Given the description of an element on the screen output the (x, y) to click on. 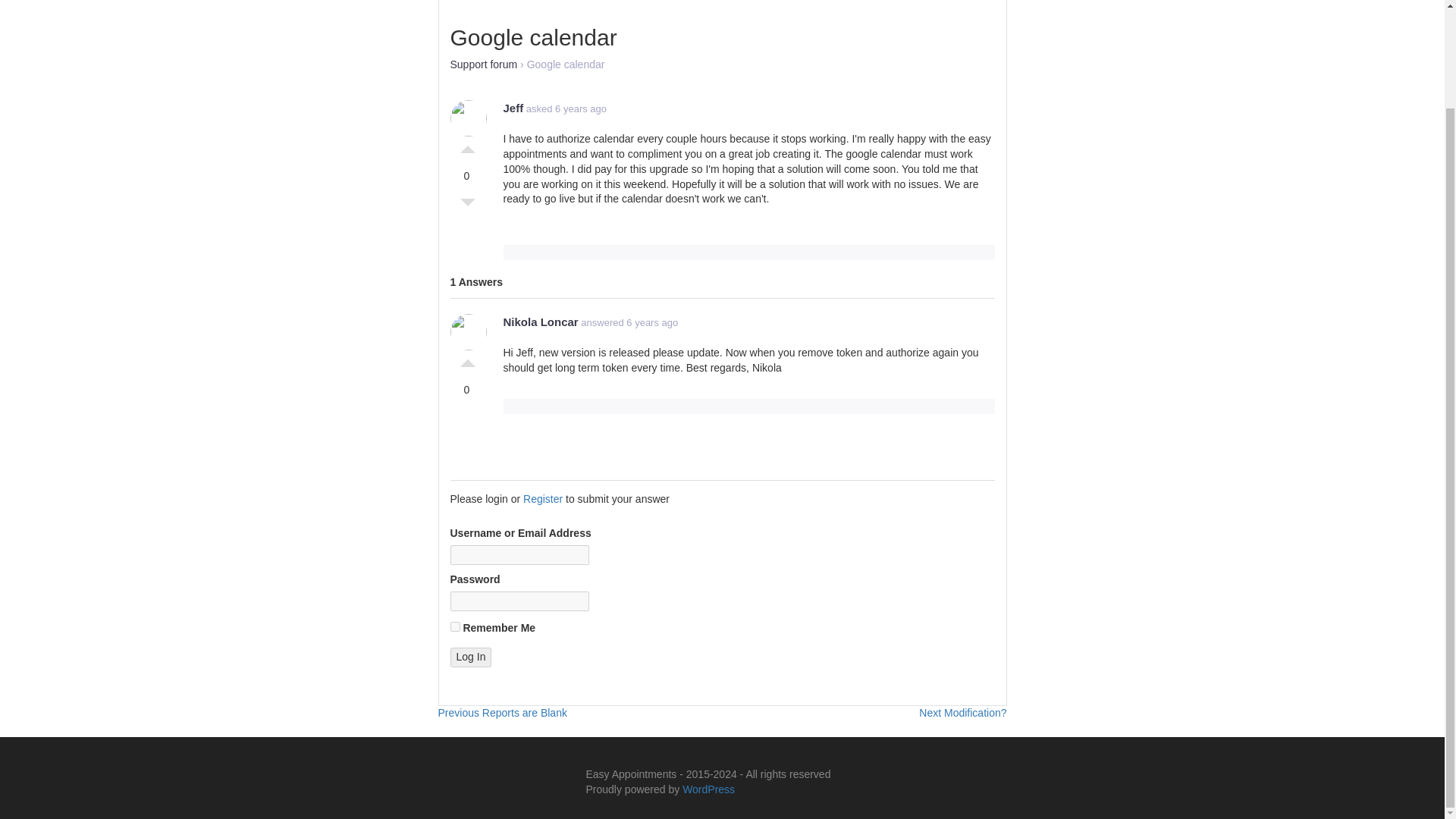
forever (454, 626)
Register (542, 499)
Jeff (513, 107)
Log In (962, 712)
Nikola Loncar (470, 657)
Vote Up (540, 321)
Vote Down (467, 145)
Vote Up (502, 712)
